Given the description of an element on the screen output the (x, y) to click on. 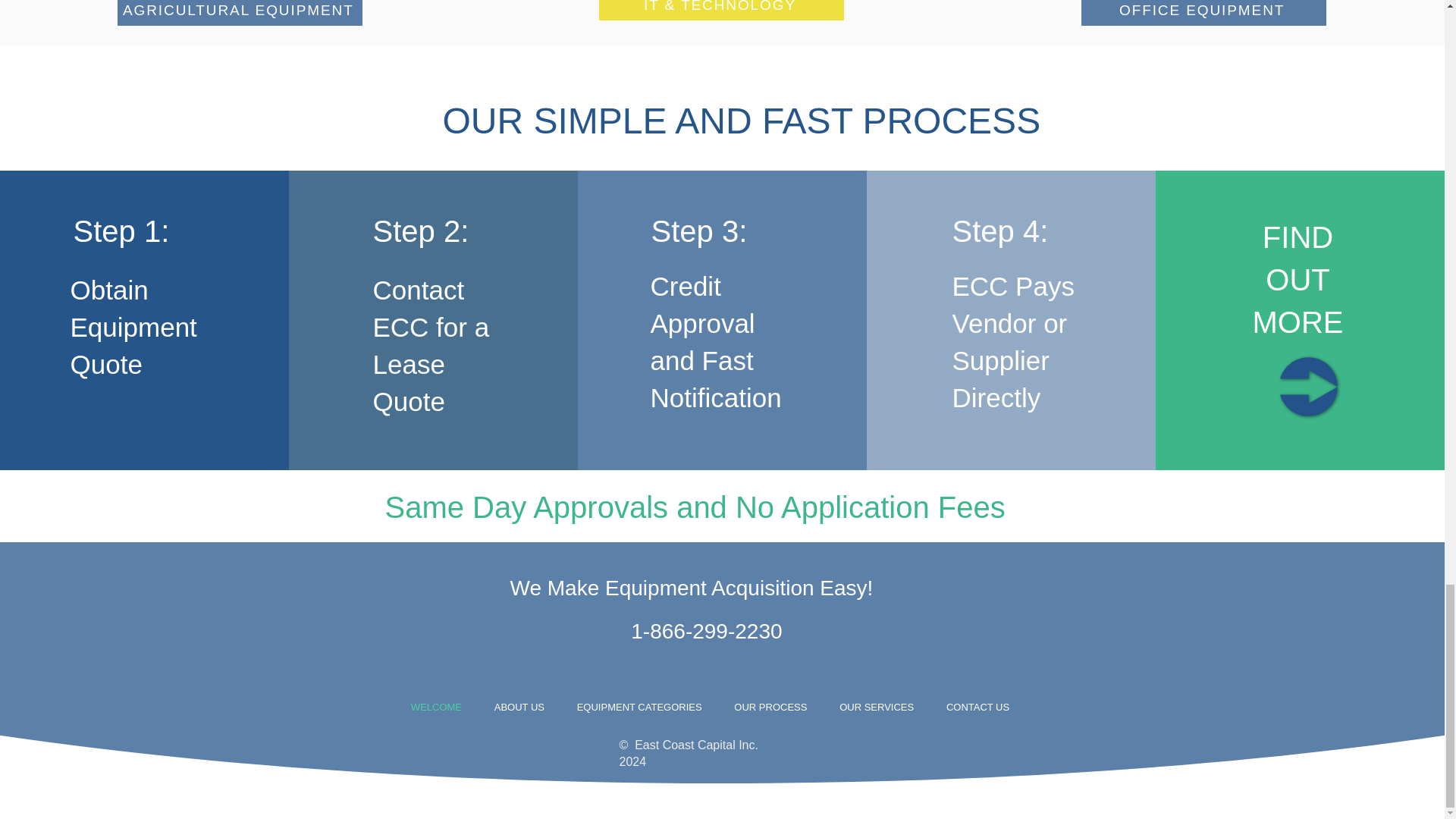
ABOUT US (518, 706)
EQUIPMENT CATEGORIES (638, 706)
OFFICE EQUIPMENT (1203, 12)
CONTACT US (978, 706)
OUR PROCESS (770, 706)
AGRICULTURAL EQUIPMENT (239, 12)
WELCOME (435, 706)
OUR SERVICES (877, 706)
